Given the description of an element on the screen output the (x, y) to click on. 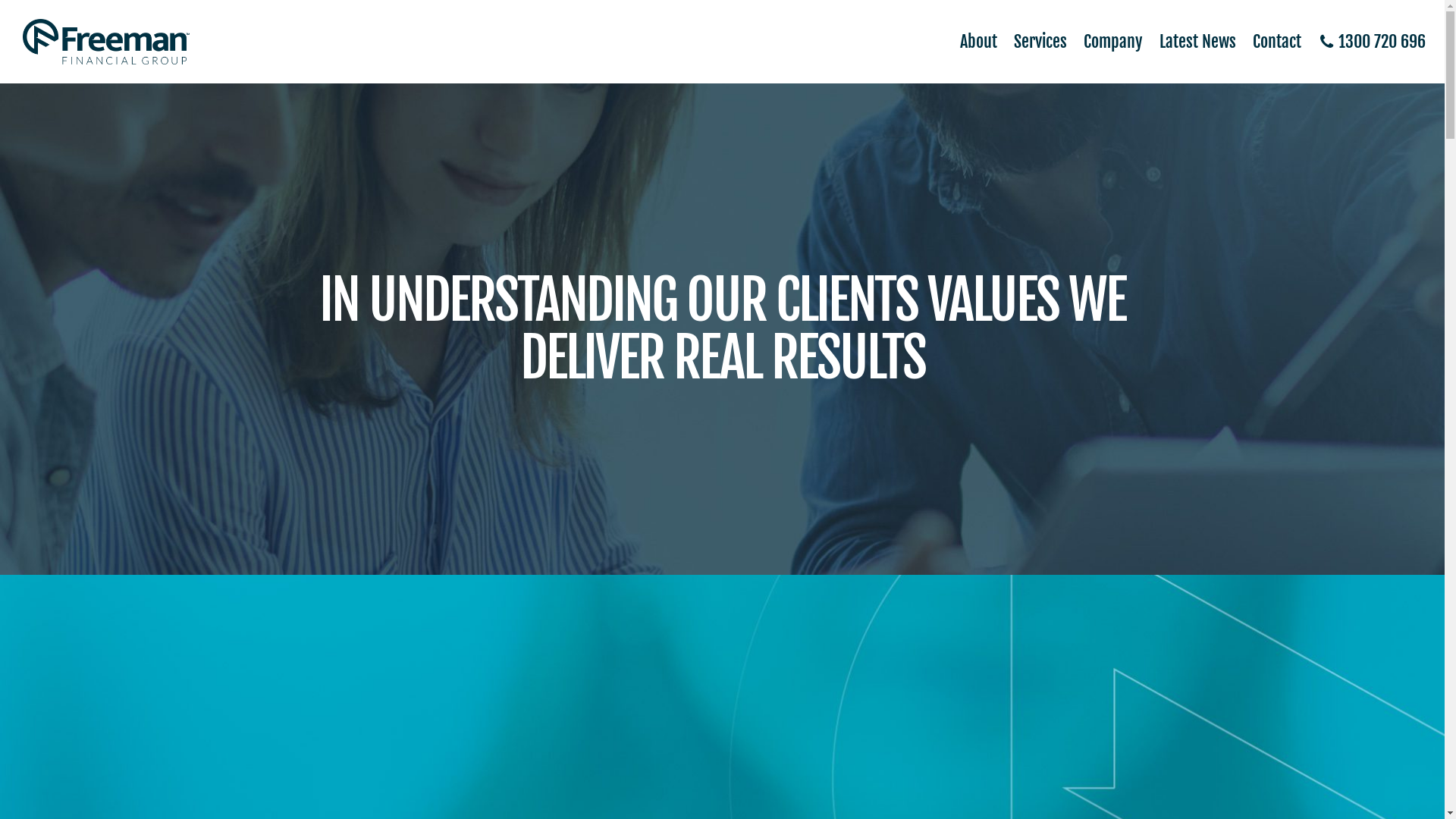
Privacy Collection Statement Element type: text (1108, 535)
Financial Services Guide Element type: text (1119, 596)
Latest News Element type: text (1189, 41)
1300 720 696 Element type: text (1363, 41)
Contact Element type: text (1268, 41)
info@freemanfinancial.com.au Element type: text (1066, 452)
Privacy Policy Element type: text (1144, 514)
Services Element type: text (1031, 41)
Call 1300 720 696 Element type: text (1116, 432)
Company Element type: text (1104, 41)
info@eastonwealth.com.au Element type: text (456, 721)
OneNine Element type: text (475, 667)
About Element type: text (970, 41)
www.gpswealth.com.au Element type: text (364, 721)
Copyright Element type: text (1154, 555)
How to Make a Complaint Element type: text (1117, 576)
